Given the description of an element on the screen output the (x, y) to click on. 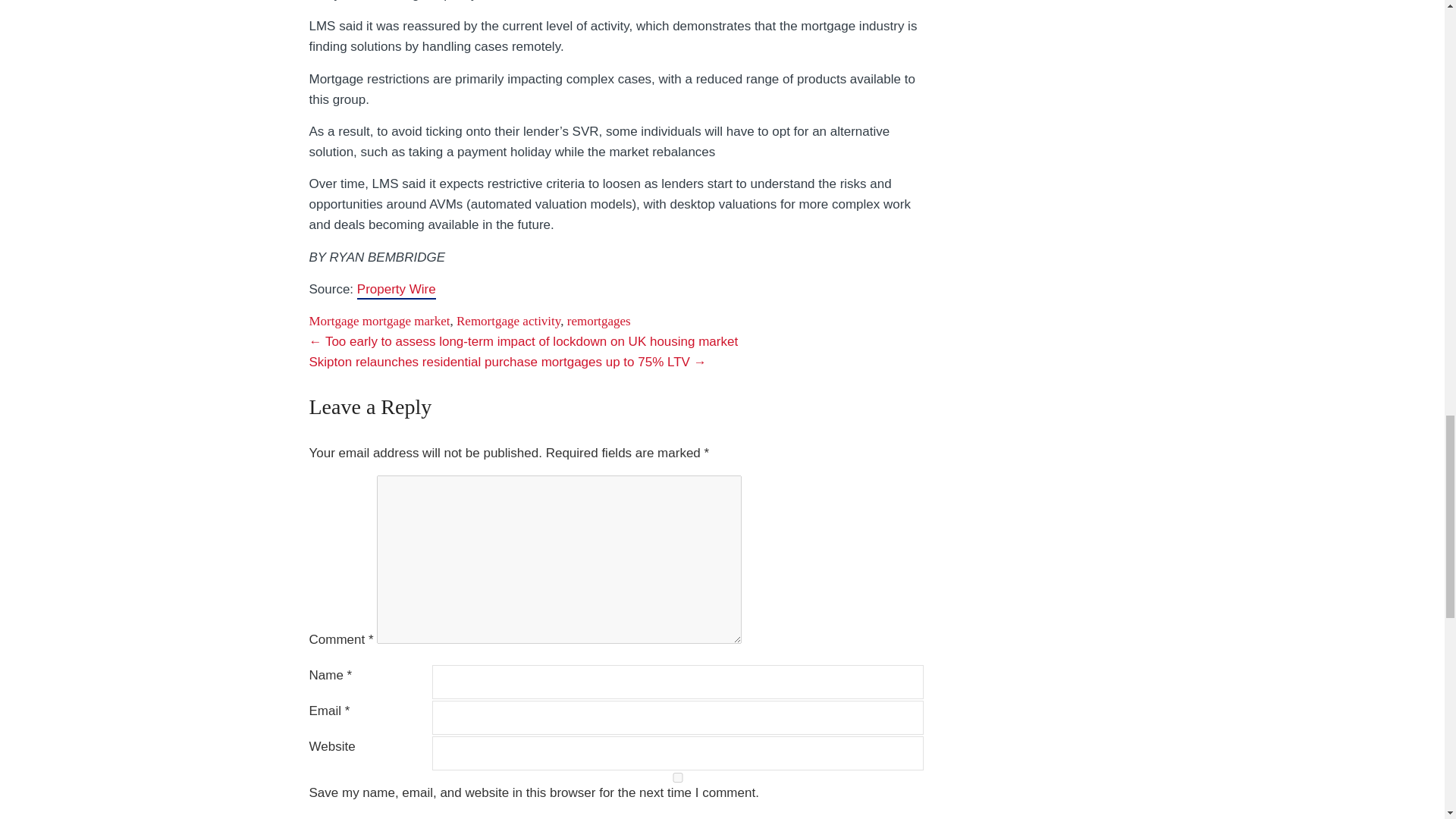
yes (677, 777)
